Given the description of an element on the screen output the (x, y) to click on. 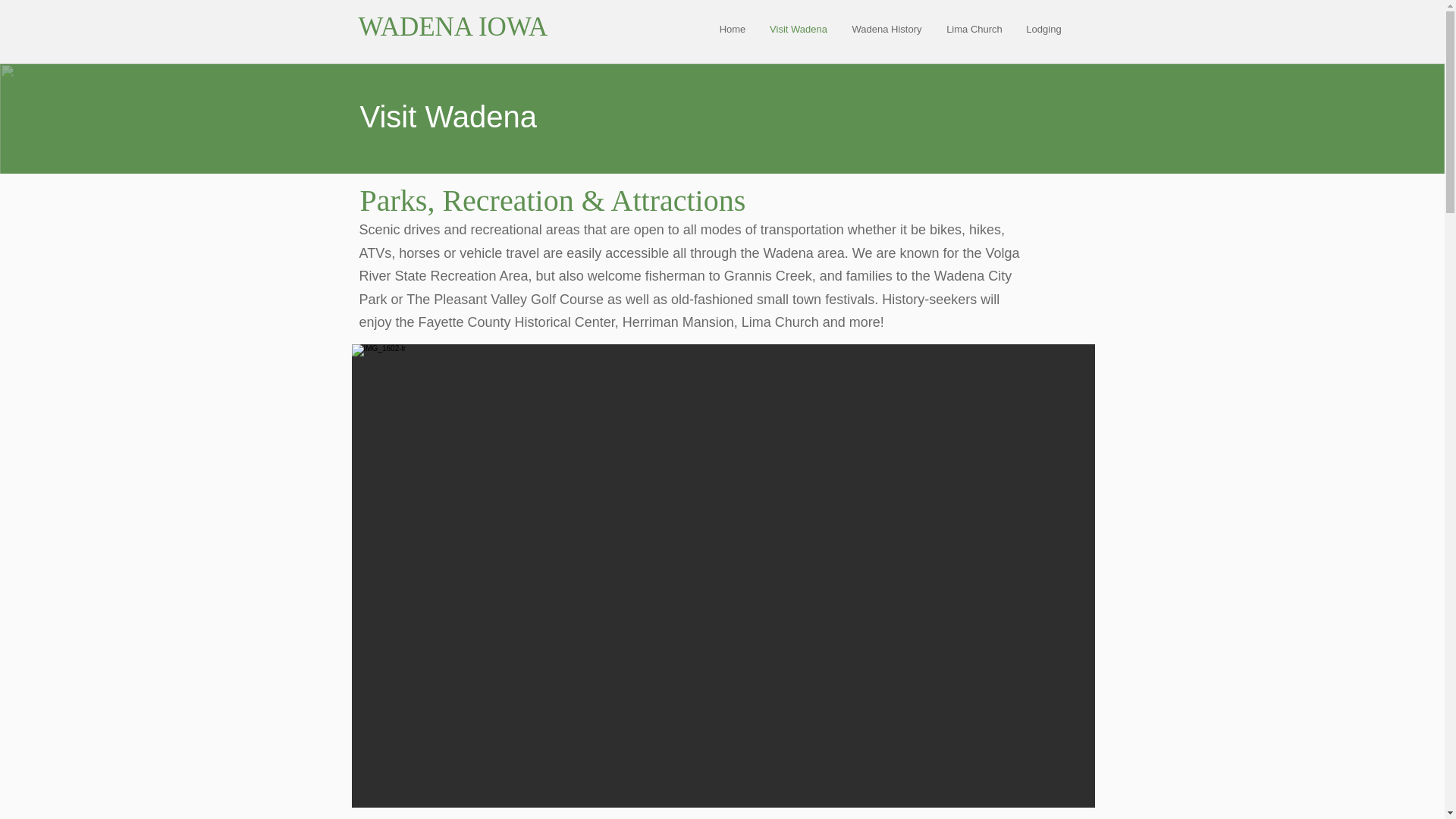
Lima Church (973, 28)
Home (731, 28)
Visit Wadena (799, 28)
Lodging (1044, 28)
Wadena History (886, 28)
WADENA IOWA (452, 26)
